Given the description of an element on the screen output the (x, y) to click on. 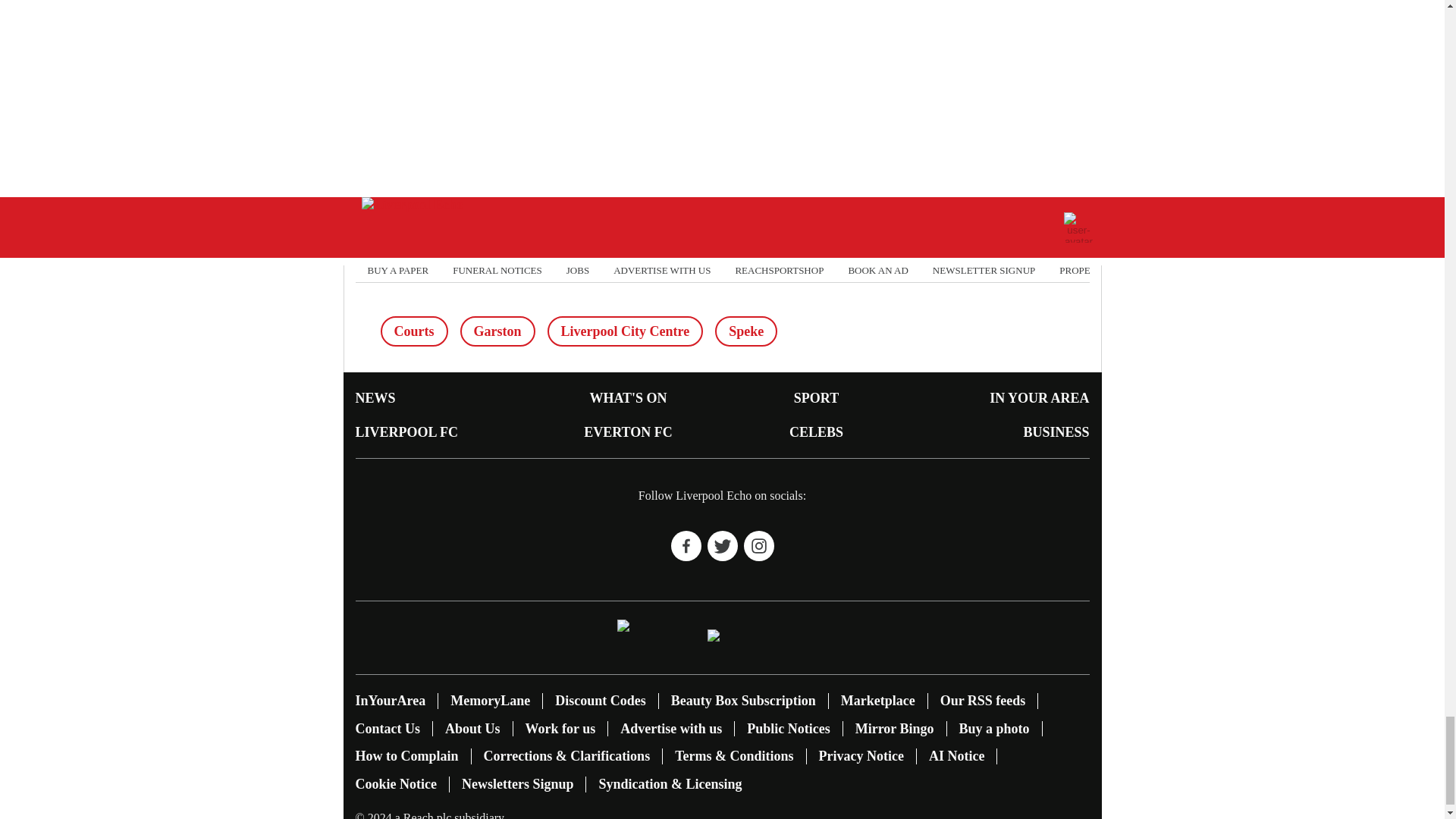
Speke (745, 331)
Garston (497, 331)
Liverpool City Centre (625, 331)
Courts (414, 331)
NEWS (374, 397)
